Given the description of an element on the screen output the (x, y) to click on. 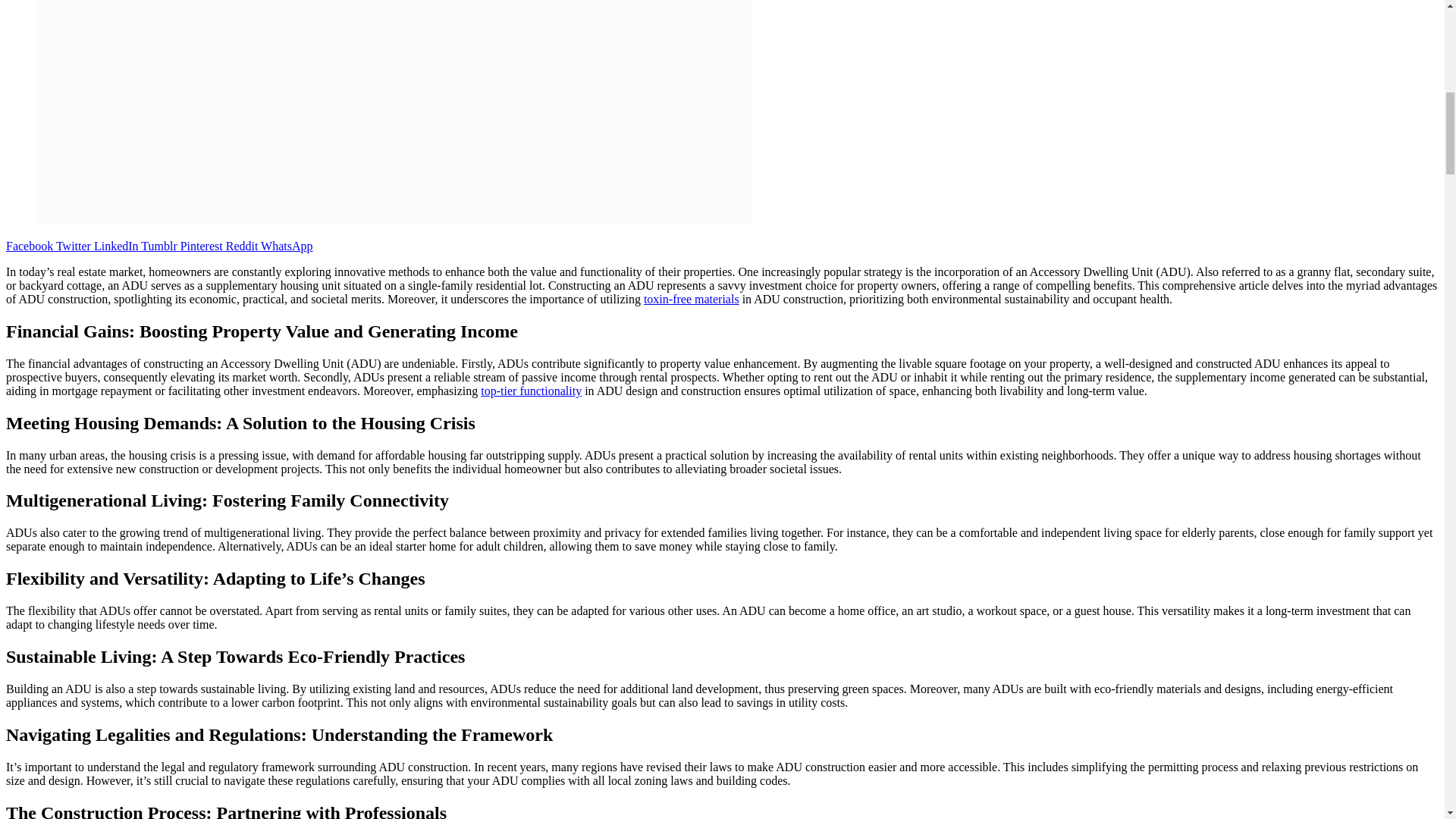
Pinterest (199, 245)
Tumblr (157, 245)
WhatsApp (285, 245)
toxin-free materials (691, 298)
LinkedIn (114, 245)
Facebook (28, 245)
top-tier functionality (530, 390)
Twitter (71, 245)
Reddit (240, 245)
